Given the description of an element on the screen output the (x, y) to click on. 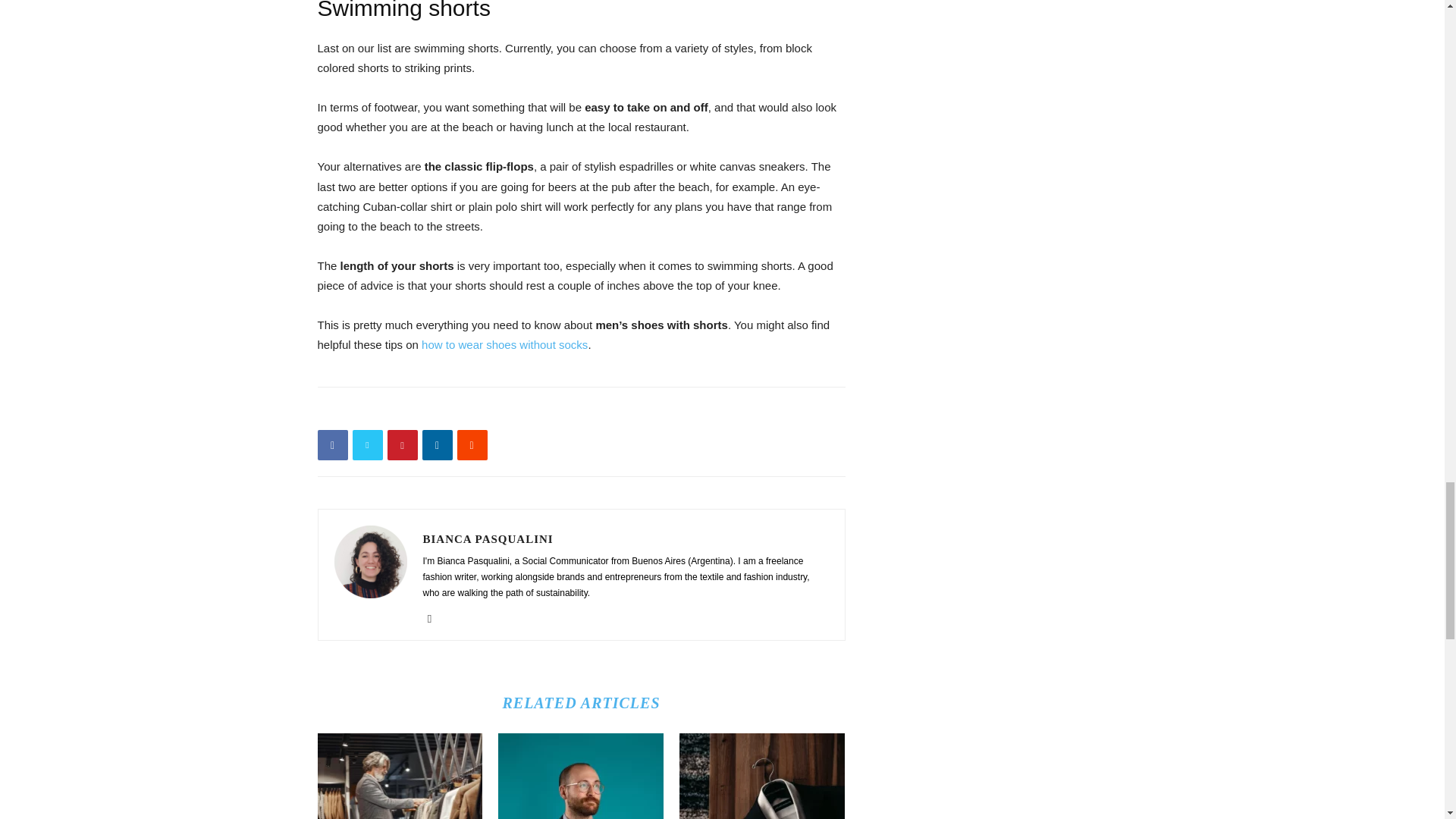
Linkedin (435, 618)
